Given the description of an element on the screen output the (x, y) to click on. 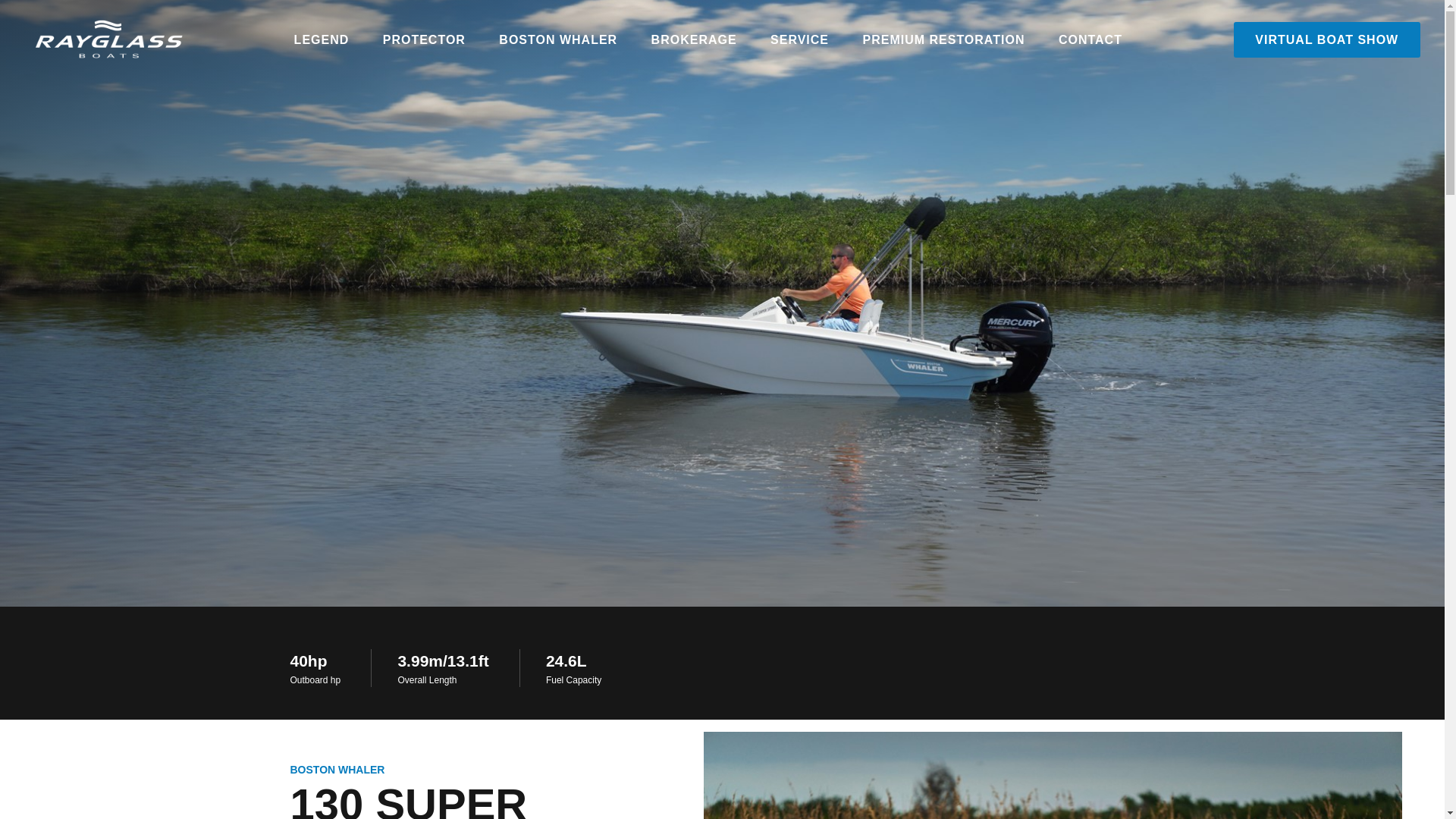
Rayglass Boats (103, 39)
LEGEND (322, 39)
BOSTON WHALER (557, 39)
PROTECTOR (424, 39)
